Given the description of an element on the screen output the (x, y) to click on. 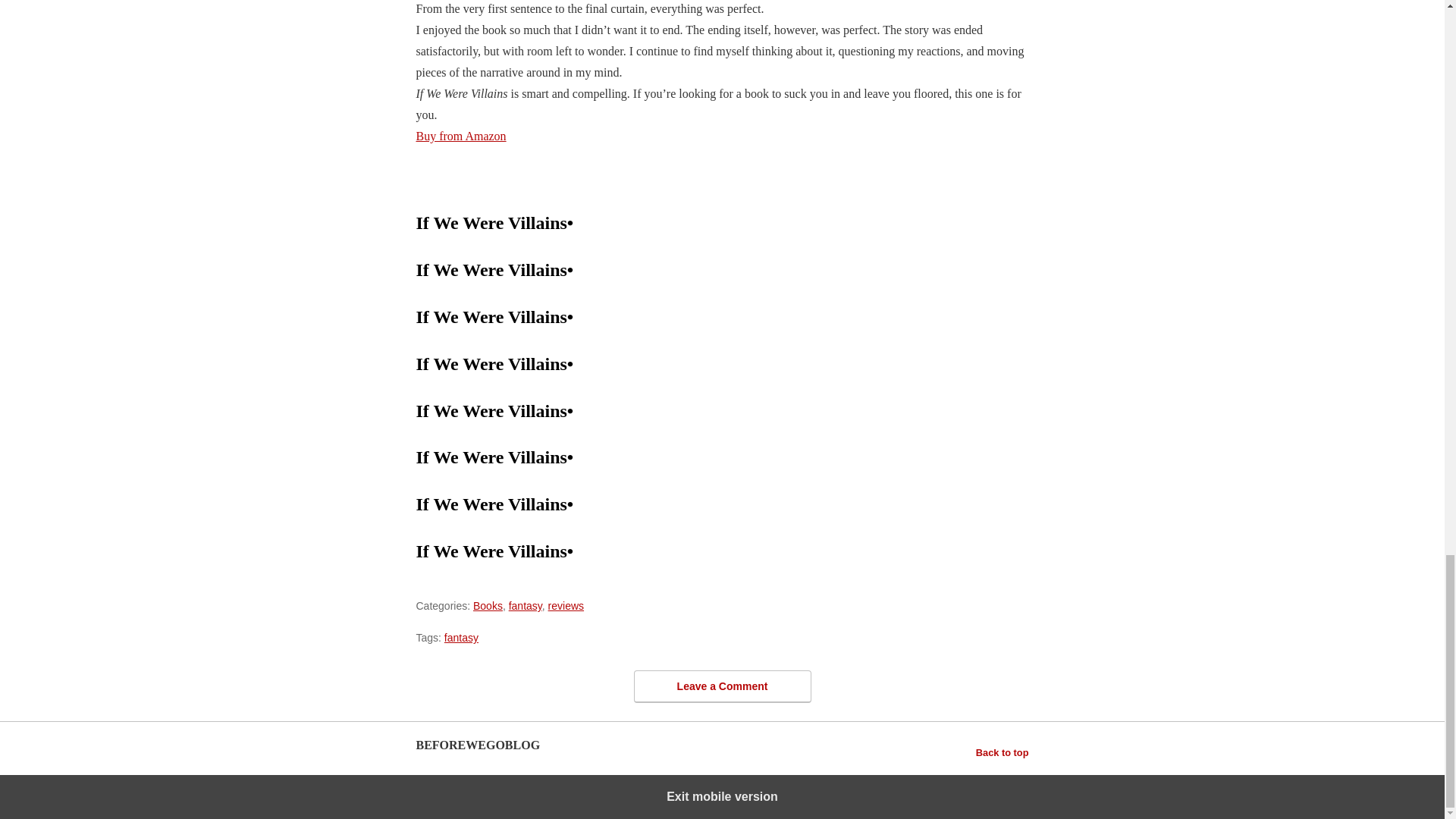
fantasy (461, 637)
reviews (565, 605)
Back to top (1002, 752)
Buy from Amazon (459, 135)
fantasy (524, 605)
Leave a Comment (721, 686)
Books (487, 605)
